Given the description of an element on the screen output the (x, y) to click on. 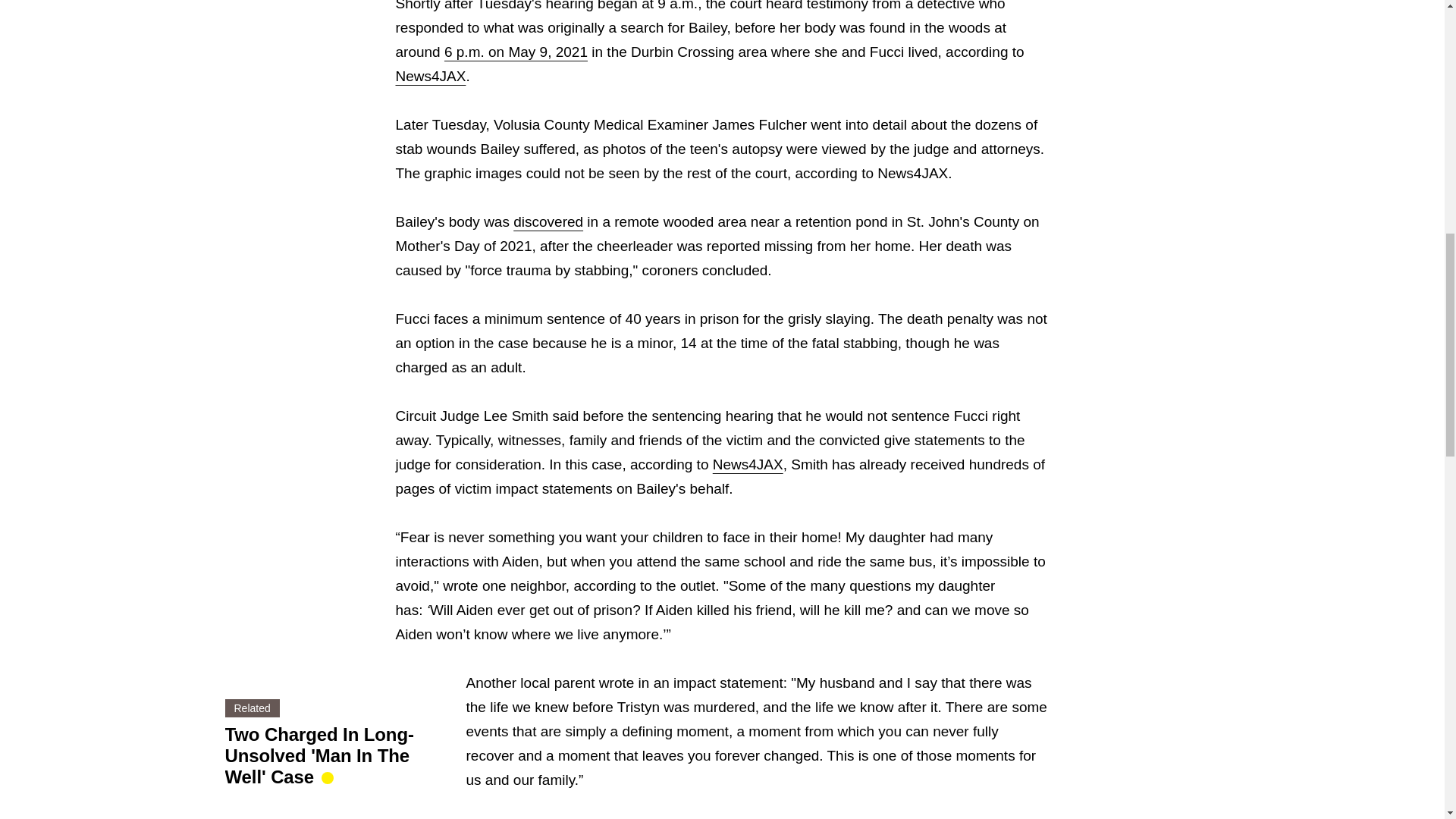
discovered (548, 221)
News4JAX (430, 75)
6 p.m. on May 9, 2021 (516, 51)
News4JAX (748, 464)
